Given the description of an element on the screen output the (x, y) to click on. 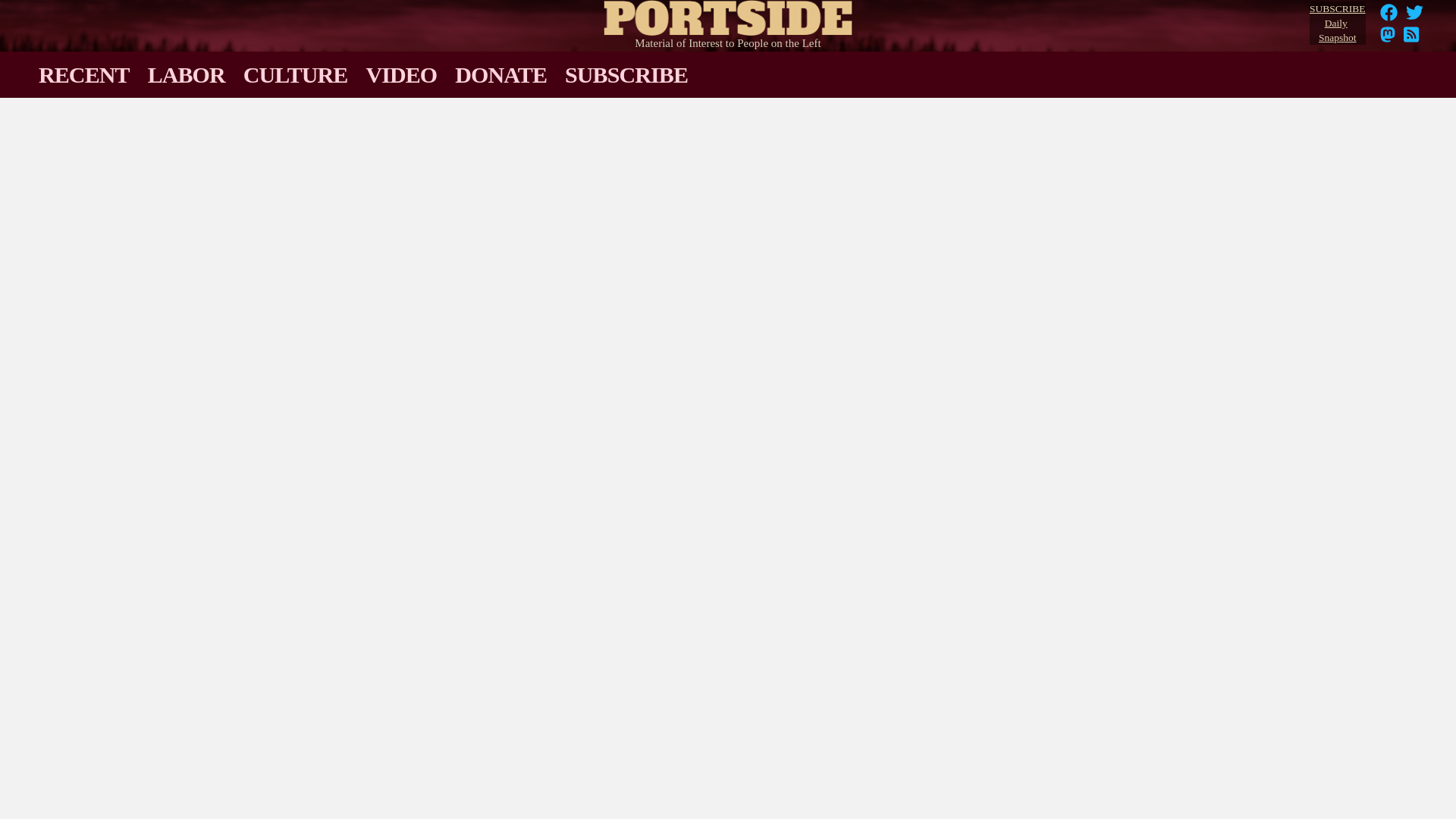
Follow Portside's RSS feed (1411, 39)
Twitter (1336, 23)
Follow Portside on Twitter (1414, 16)
RSS (1414, 16)
Facebook (1411, 39)
Twitter (1388, 16)
Follow Portside on Facebook (1414, 11)
Facebook (1388, 16)
Follow Portside on Mastodon (1388, 11)
